Given the description of an element on the screen output the (x, y) to click on. 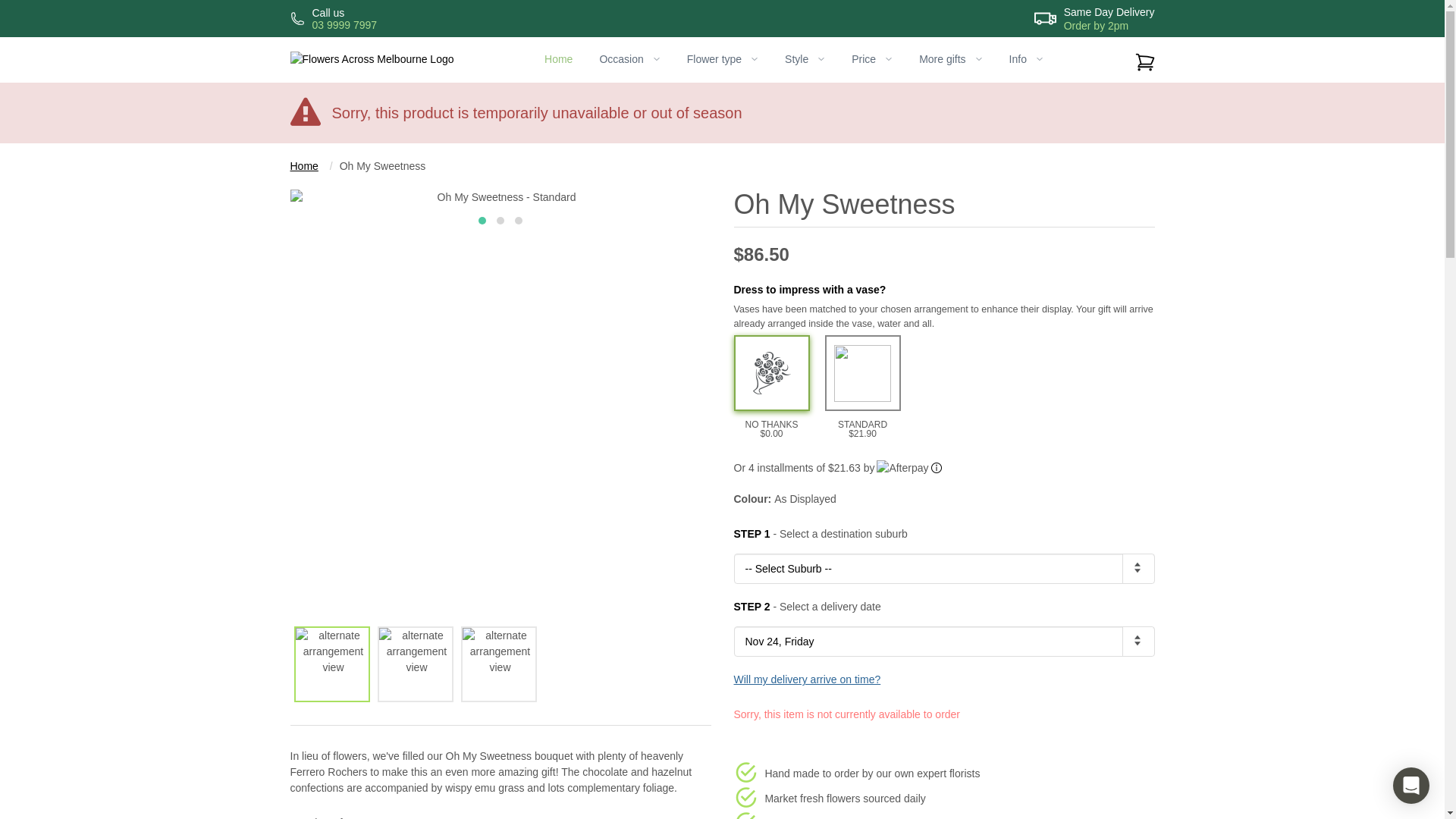
More gifts Element type: text (950, 59)
Flower type Element type: text (722, 59)
Call us
03 9999 7997 Element type: text (332, 18)
Home Element type: text (303, 166)
Price Element type: text (872, 59)
Style Element type: text (804, 59)
Will my delivery arrive on time? Element type: text (807, 679)
Info Element type: text (1025, 59)
Home Element type: text (558, 59)
Occasion Element type: text (629, 59)
